Given the description of an element on the screen output the (x, y) to click on. 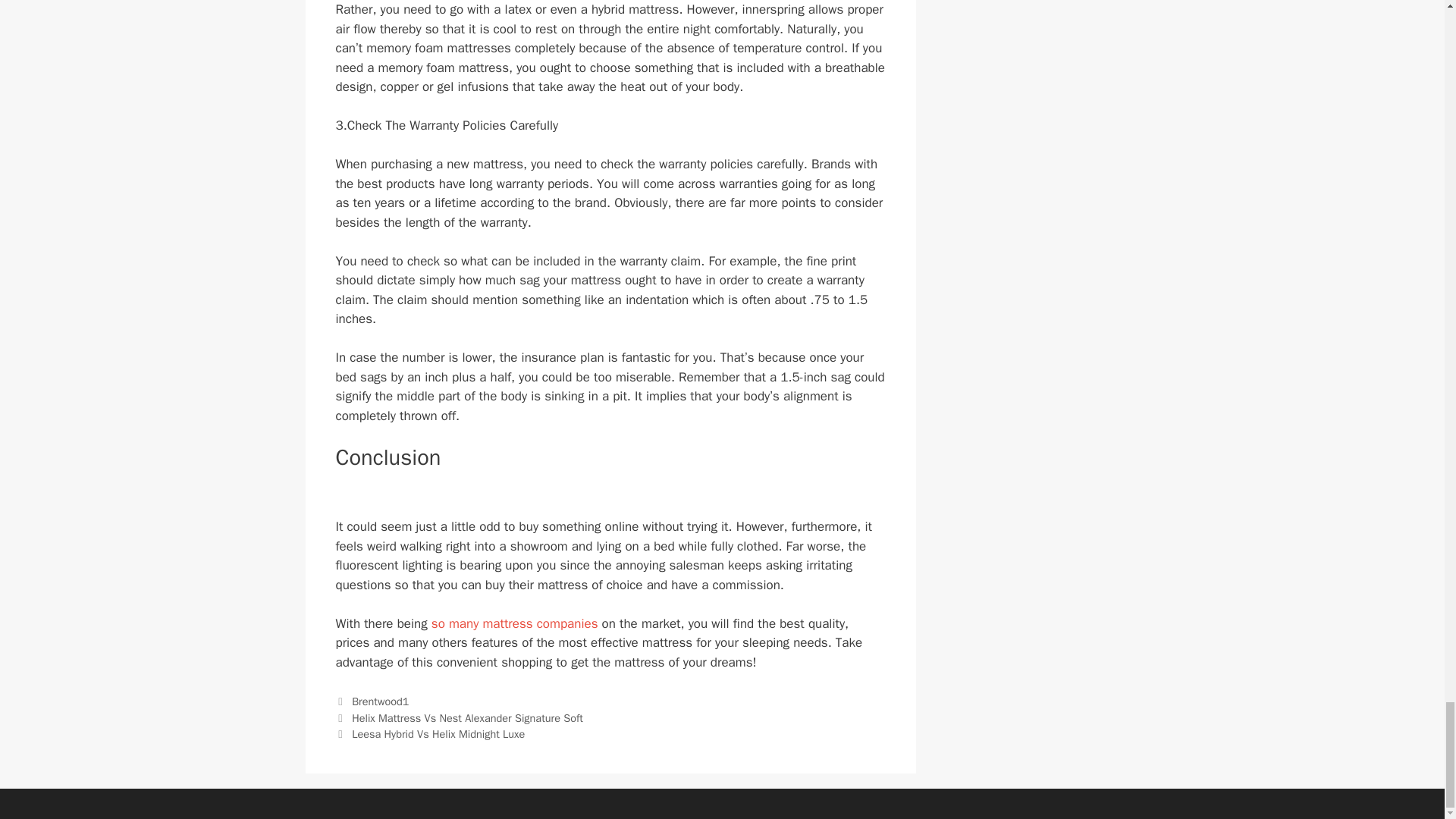
Leesa Hybrid Vs Helix Midnight Luxe (438, 734)
Brentwood1 (380, 701)
so many mattress companies (514, 623)
Helix Mattress Vs Nest Alexander Signature Soft (467, 717)
